Given the description of an element on the screen output the (x, y) to click on. 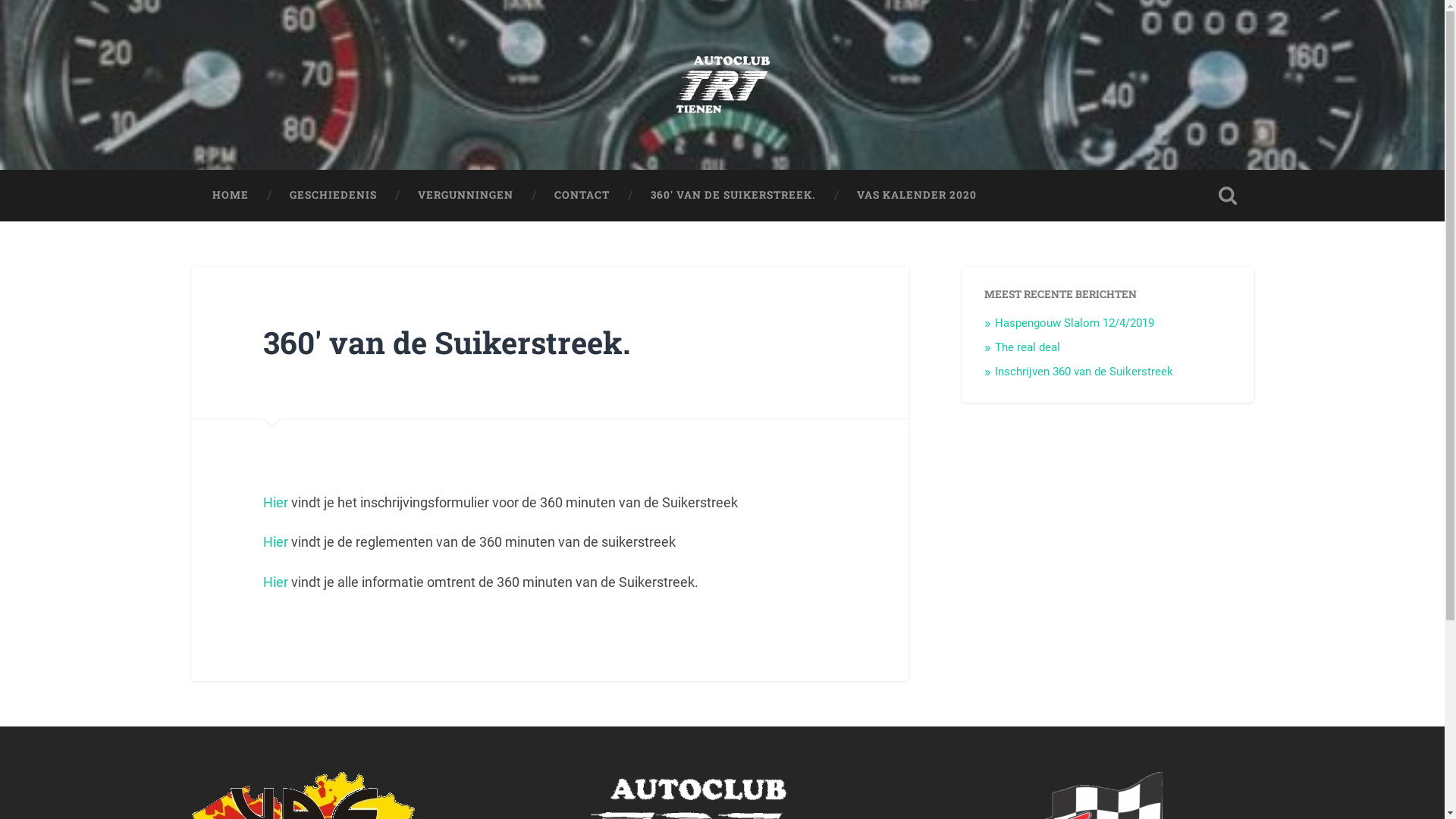
GESCHIEDENIS Element type: text (332, 195)
CONTACT Element type: text (581, 195)
Hier Element type: text (275, 502)
VERGUNNINGEN Element type: text (465, 195)
The real deal Element type: text (1027, 347)
Inschrijven 360 van de Suikerstreek Element type: text (1083, 370)
Hier Element type: text (275, 541)
HOME Element type: text (229, 195)
Haspengouw Slalom 12/4/2019 Element type: text (1074, 322)
VAS KALENDER 2020 Element type: text (915, 195)
Hier Element type: text (275, 581)
